Given the description of an element on the screen output the (x, y) to click on. 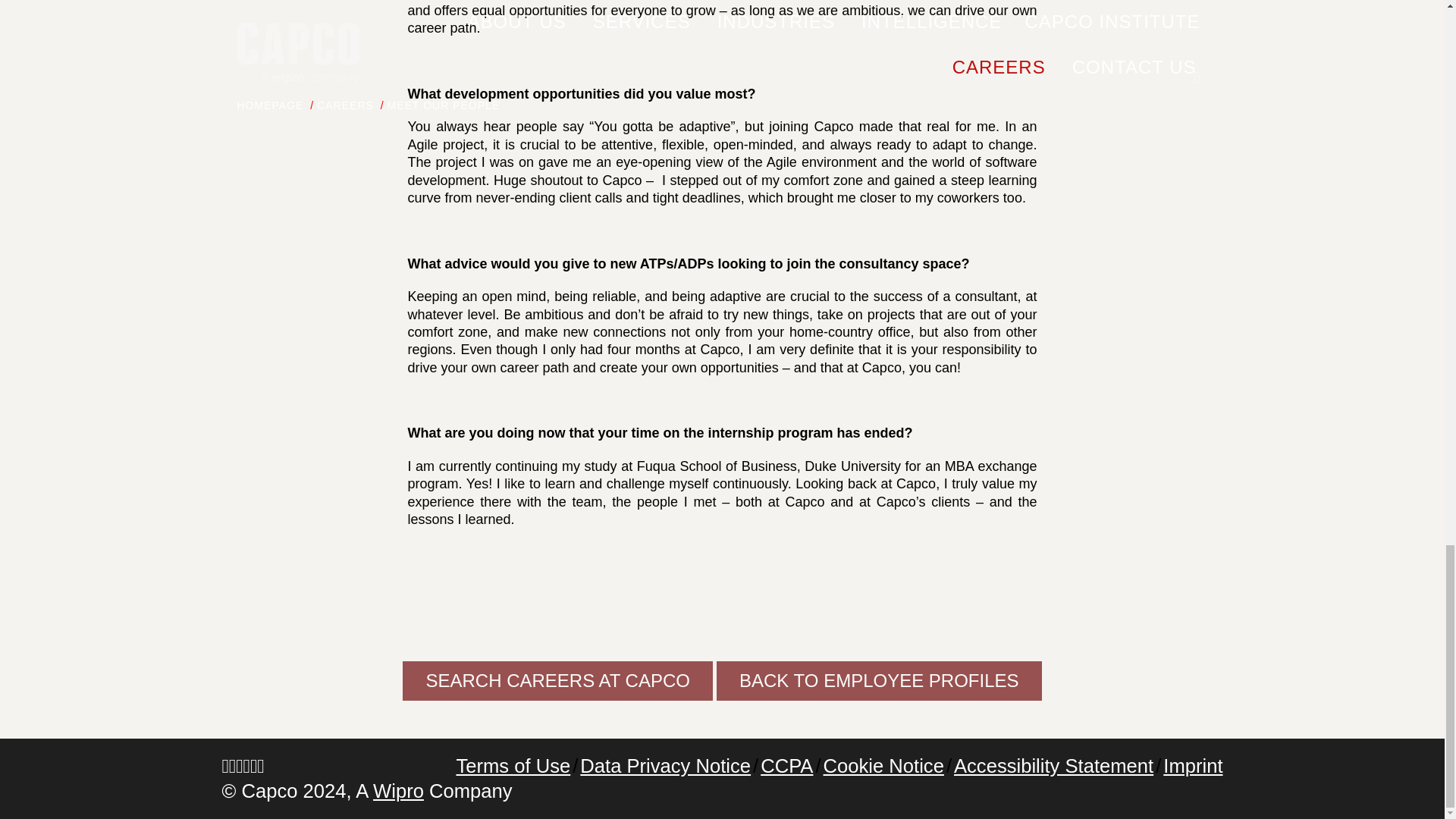
Wipro (397, 790)
